Given the description of an element on the screen output the (x, y) to click on. 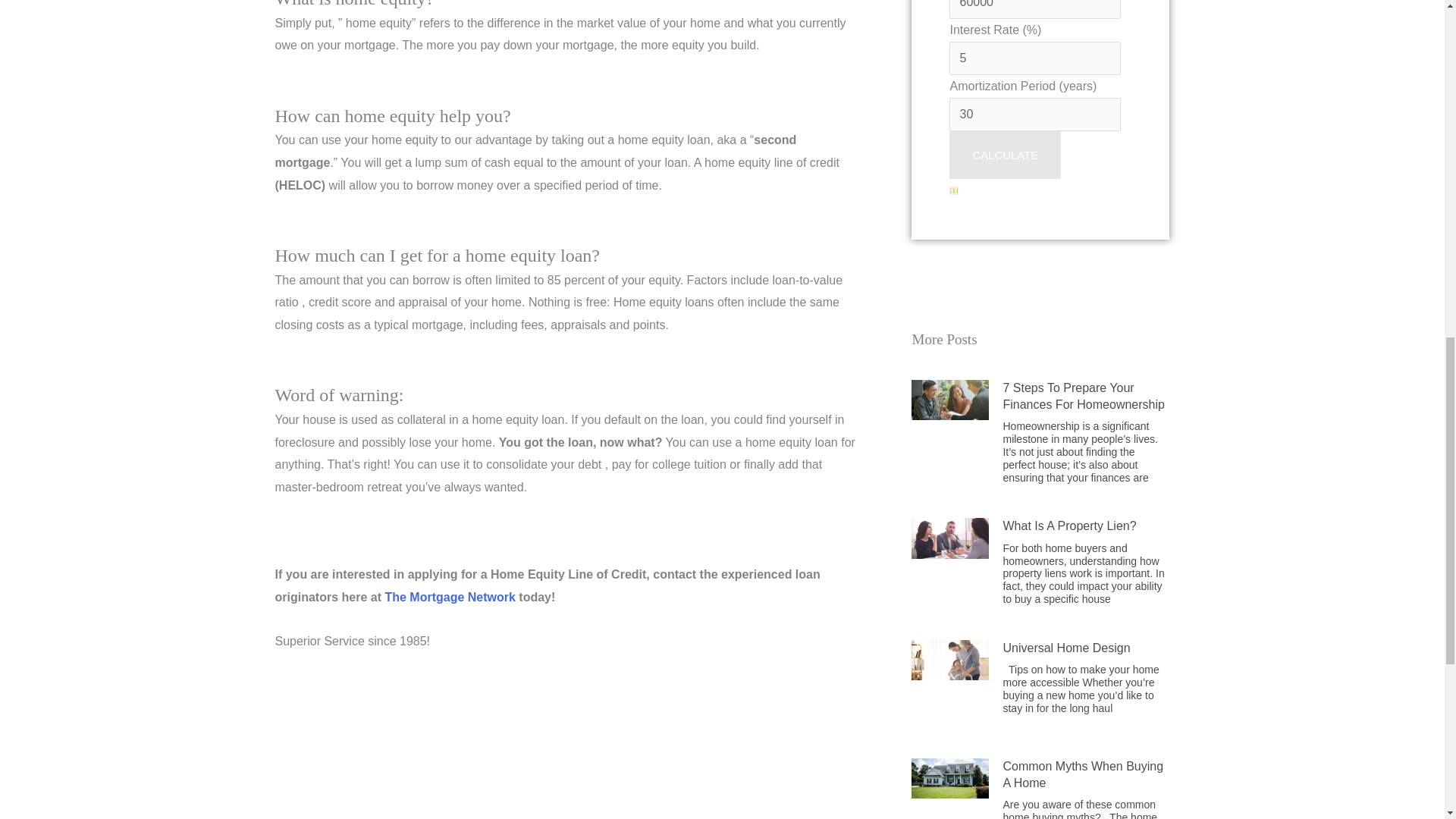
What Is A Property Lien? (1069, 525)
Calculate (1005, 155)
5 (1035, 58)
Calculate (1005, 155)
Universal Home Design (1066, 647)
30 (1035, 114)
The Mortgage Network (449, 596)
60000 (1035, 9)
7 Steps To Prepare Your Finances For Homeownership (1083, 396)
Common Myths When Buying A Home (1083, 774)
